Given the description of an element on the screen output the (x, y) to click on. 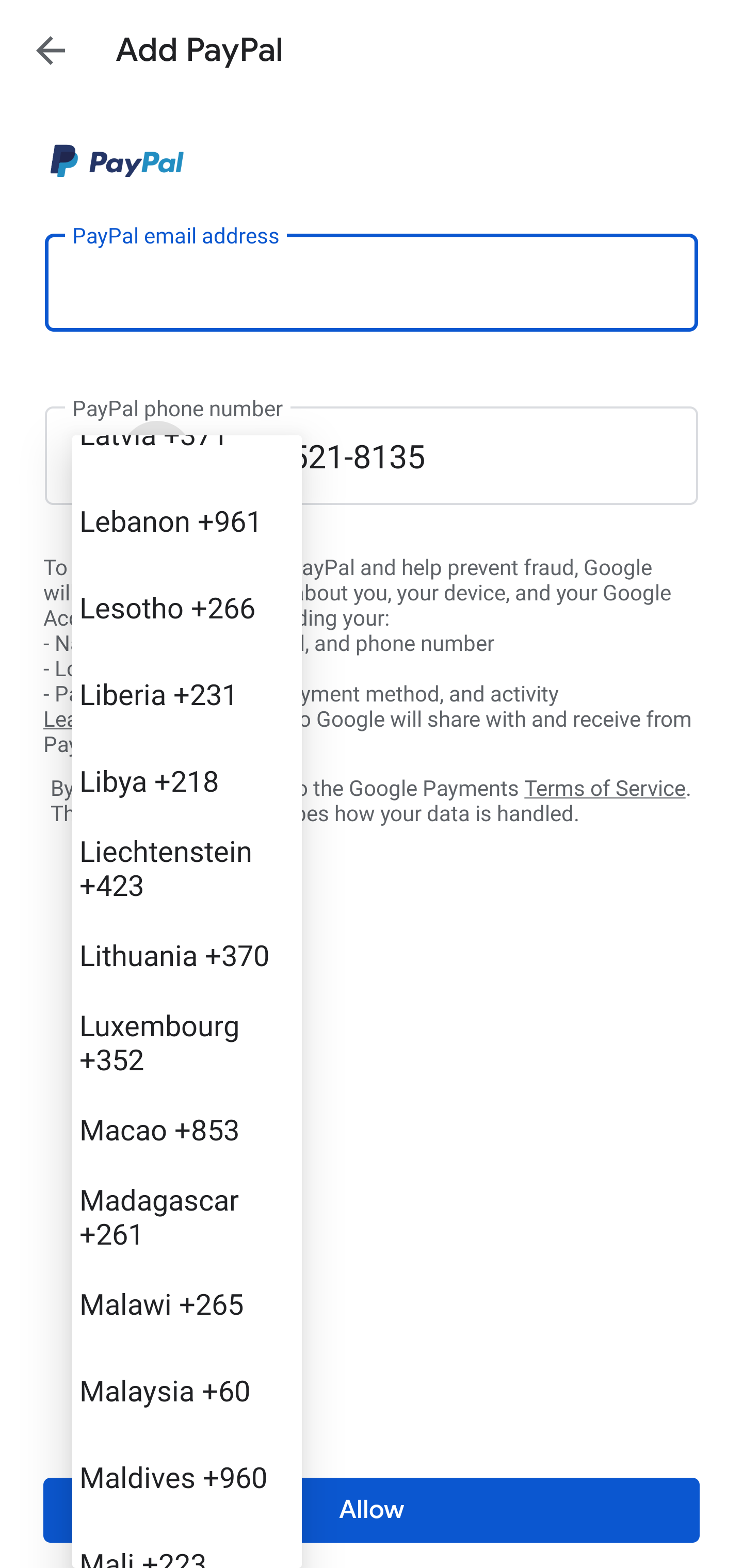
Lebanon +961 (186, 520)
Lesotho +266 (186, 607)
Liberia +231 (186, 693)
Libya +218 (186, 779)
Liechtenstein +423 (186, 867)
Lithuania +370 (186, 954)
Luxembourg +352 (186, 1041)
Macao +853 (186, 1128)
Madagascar +261 (186, 1216)
Malawi +265 (186, 1303)
Malaysia +60 (186, 1389)
Maldives +960 (186, 1476)
